Given the description of an element on the screen output the (x, y) to click on. 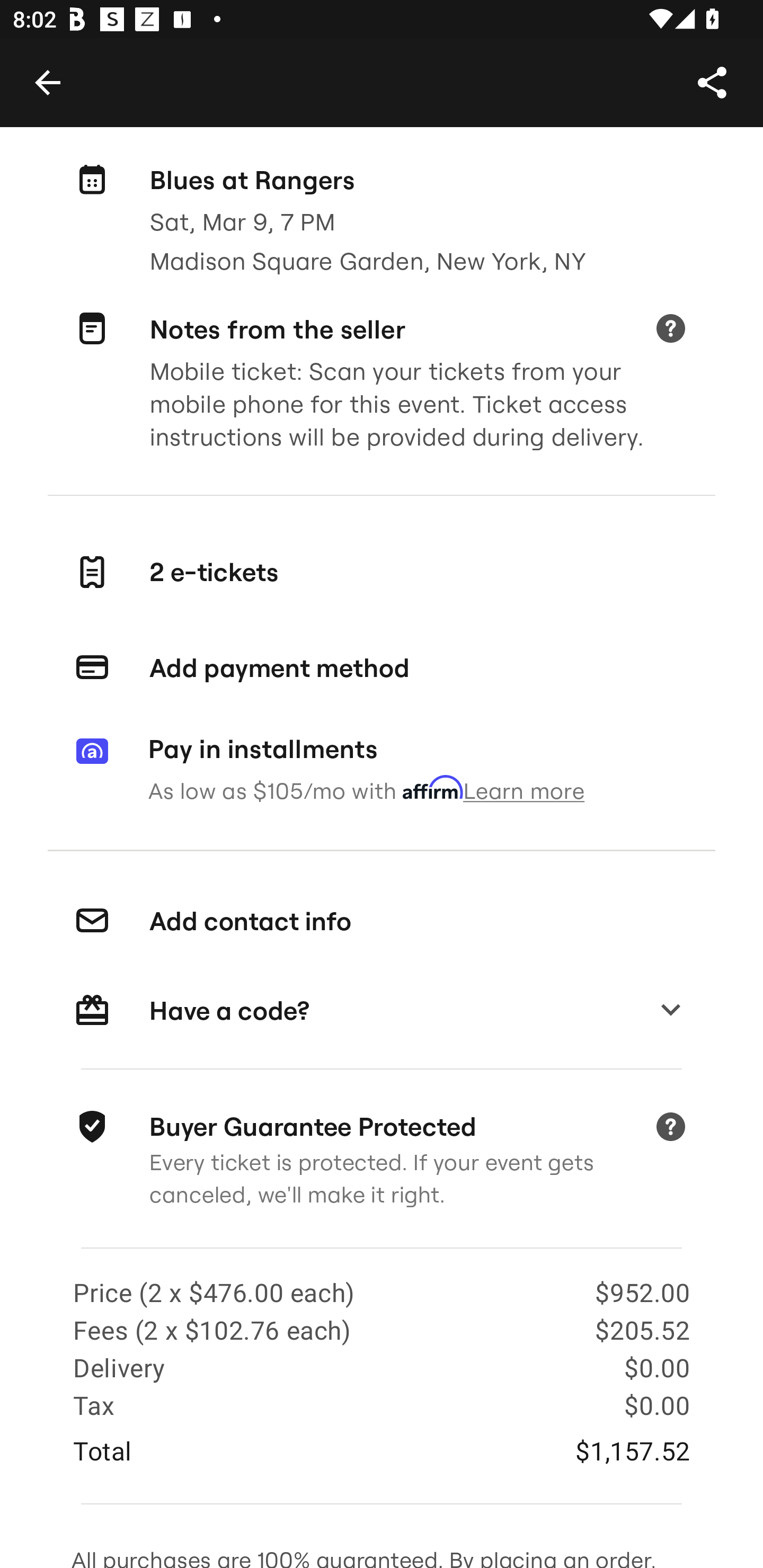
Expand image to fullscreen (57, 69)
Share (711, 81)
Learn more (670, 329)
2 e-tickets (381, 572)
Add payment method (381, 668)
Add contact info (381, 920)
Have a code? Expand to show options (381, 1010)
